Given the description of an element on the screen output the (x, y) to click on. 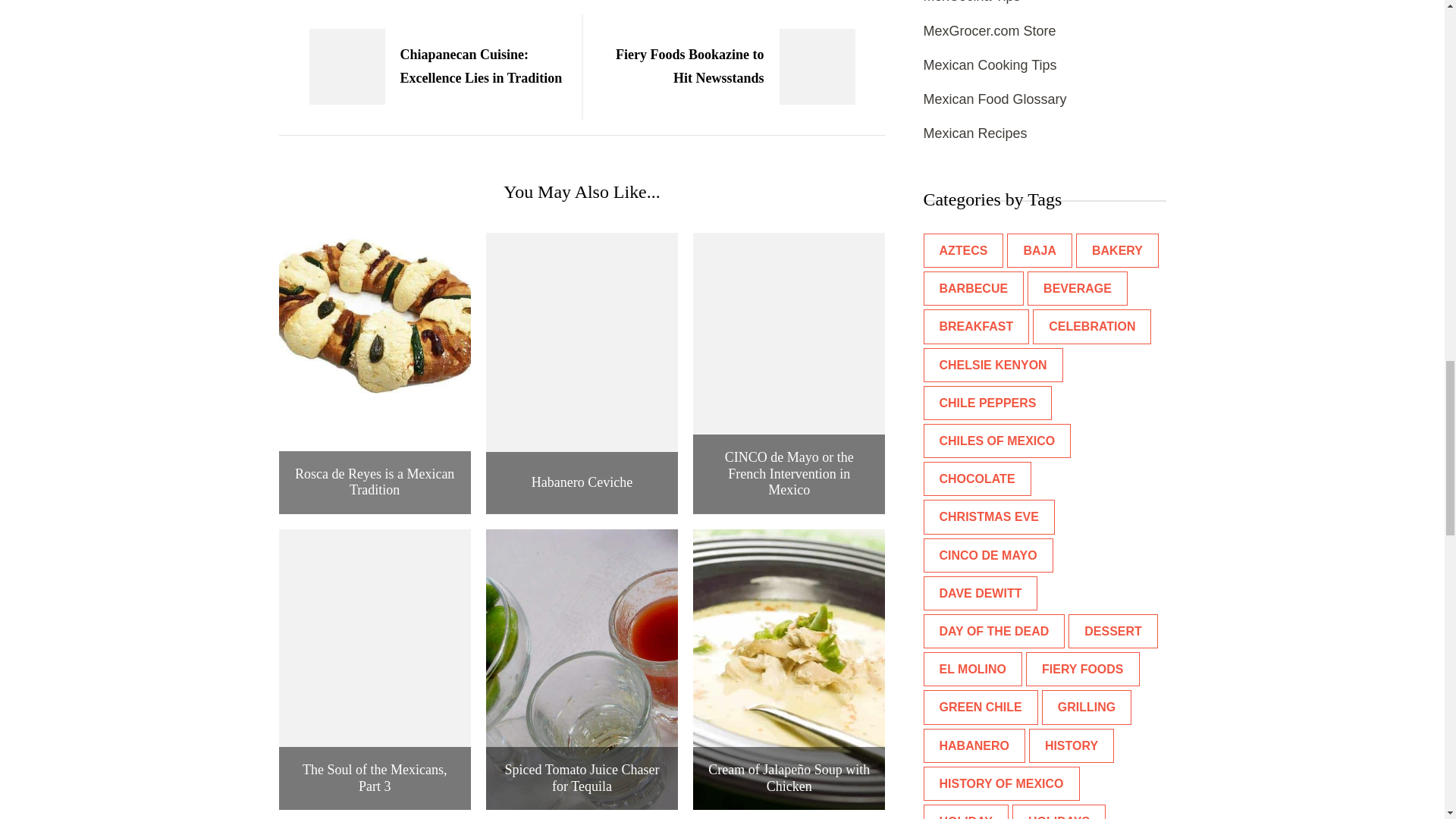
The Soul of the Mexicans, Part 3 (374, 778)
Chiapanecan Cuisine: Excellence Lies in Tradition (423, 66)
Rosca de Reyes is a Mexican Tradition (374, 482)
Fiery Foods Bookazine to Hit Newsstands (740, 66)
Spiced Tomato Juice Chaser for Tequila (581, 778)
Habanero Ceviche (581, 483)
CINCO de Mayo or the French Intervention in Mexico (788, 473)
